Given the description of an element on the screen output the (x, y) to click on. 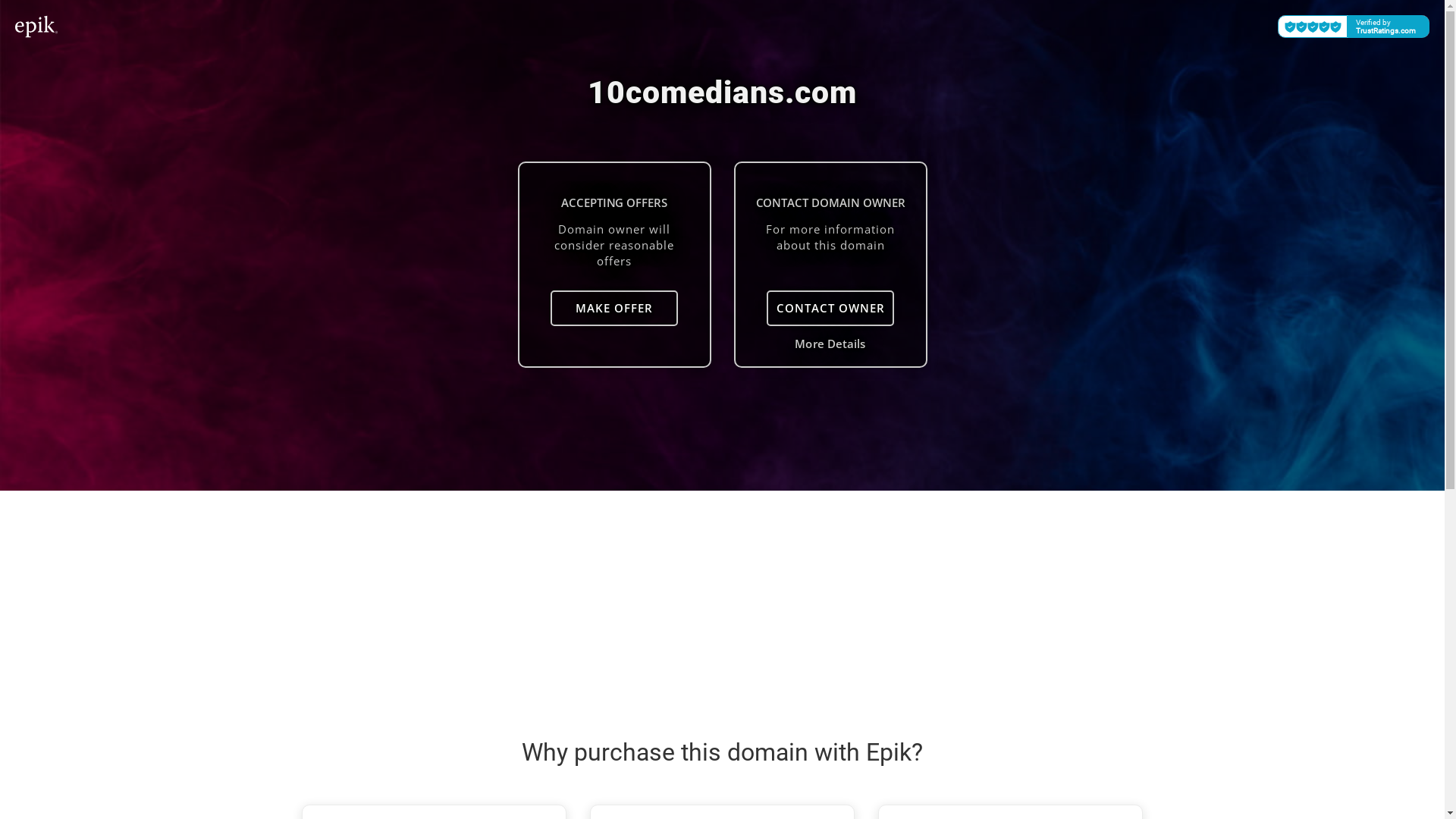
More Details Element type: text (830, 343)
MAKE OFFER Element type: text (613, 308)
CONTACT OWNER Element type: text (830, 308)
Verified by TrustRatings.com Element type: hover (1353, 26)
